Given the description of an element on the screen output the (x, y) to click on. 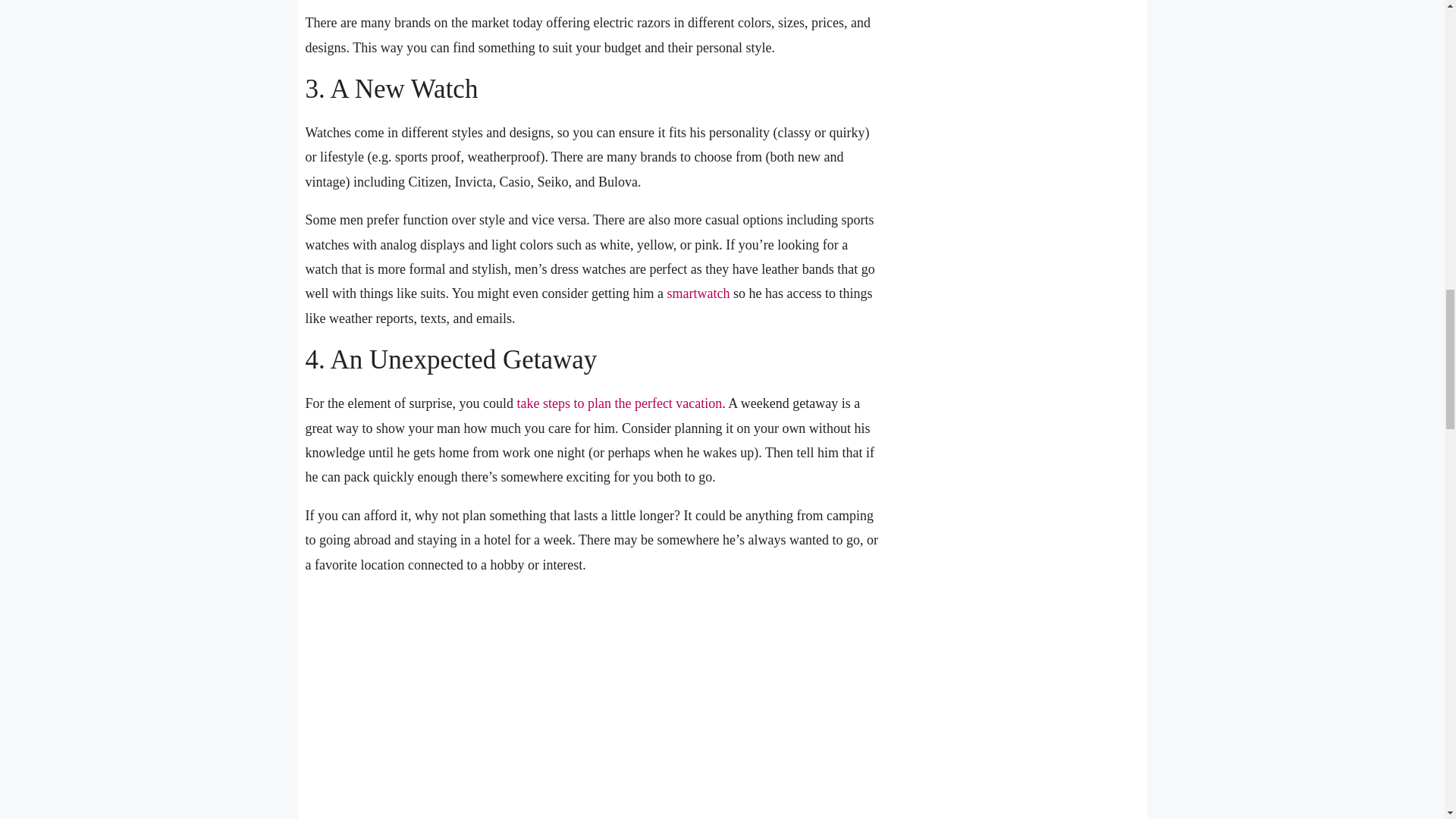
couple-gift (592, 704)
take steps to plan the perfect vacation (619, 403)
smartwatch (697, 293)
